Given the description of an element on the screen output the (x, y) to click on. 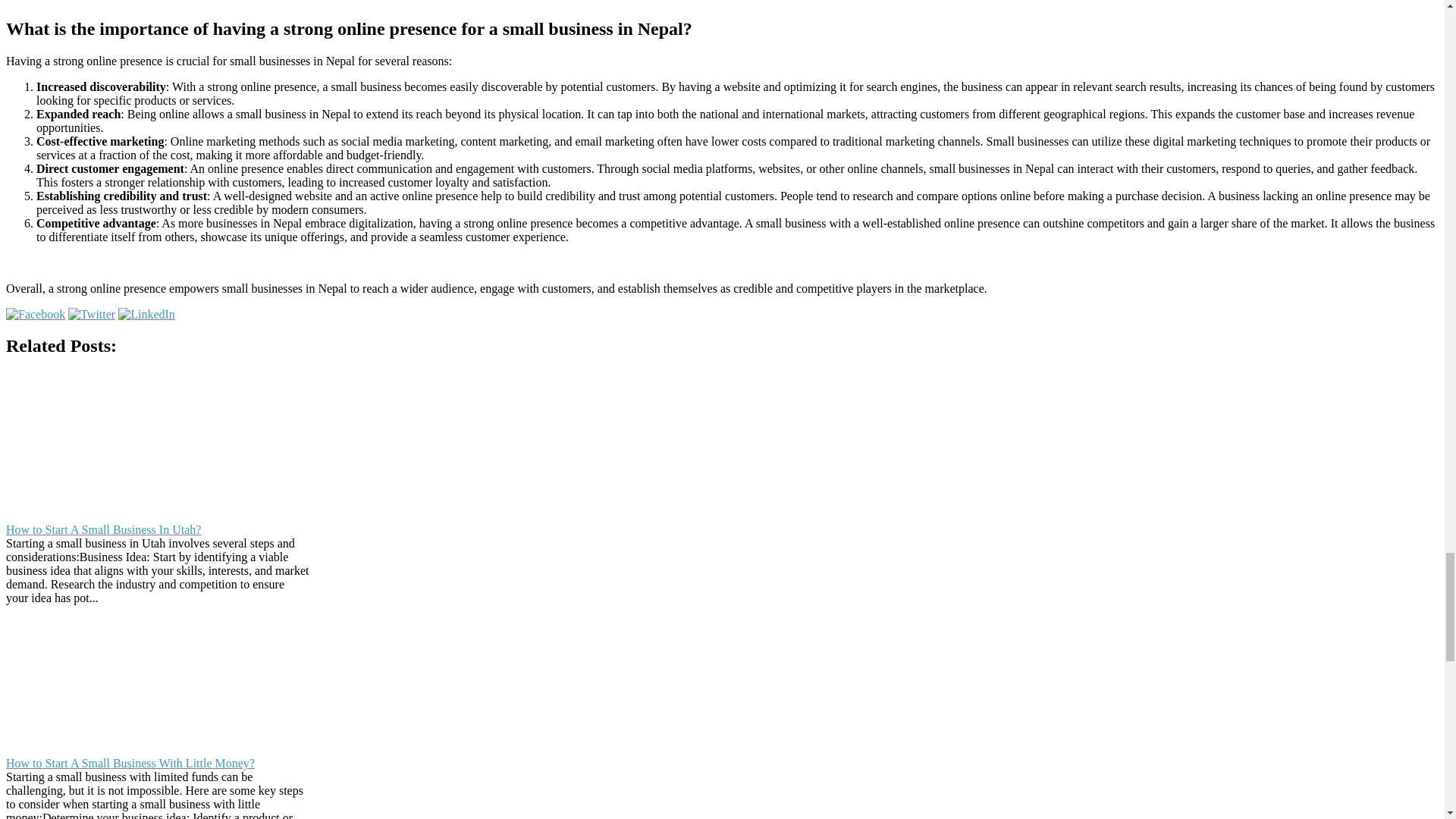
Twitter (91, 314)
LinkedIn (145, 314)
Facebook (35, 314)
